Given the description of an element on the screen output the (x, y) to click on. 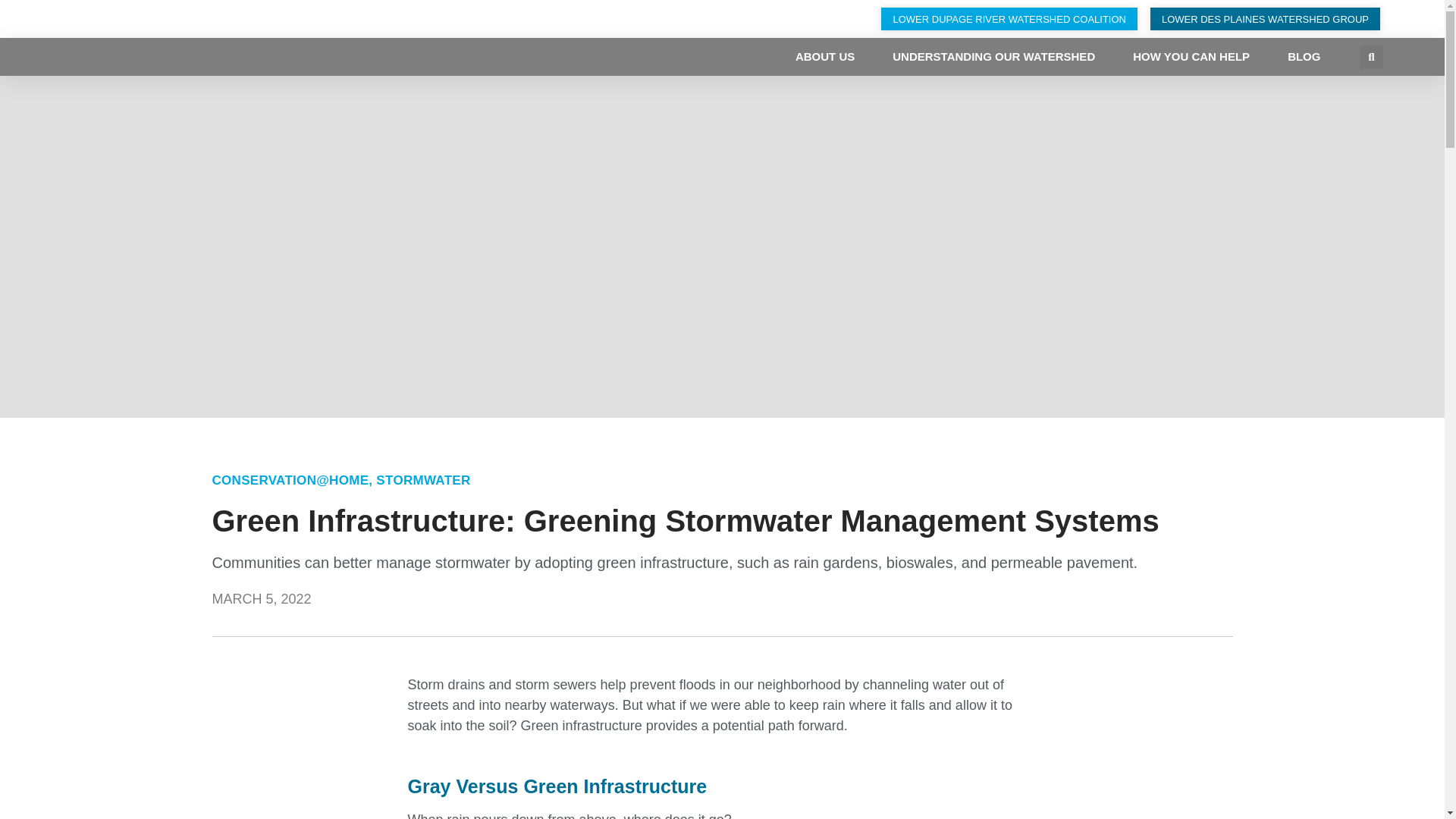
ABOUT US (824, 56)
BLOG (1303, 56)
LOWER DES PLAINES WATERSHED GROUP (1265, 18)
HOW YOU CAN HELP (1190, 56)
LOWER DUPAGE RIVER WATERSHED COALITION (1008, 18)
STORMWATER (422, 480)
UNDERSTANDING OUR WATERSHED (993, 56)
